Given the description of an element on the screen output the (x, y) to click on. 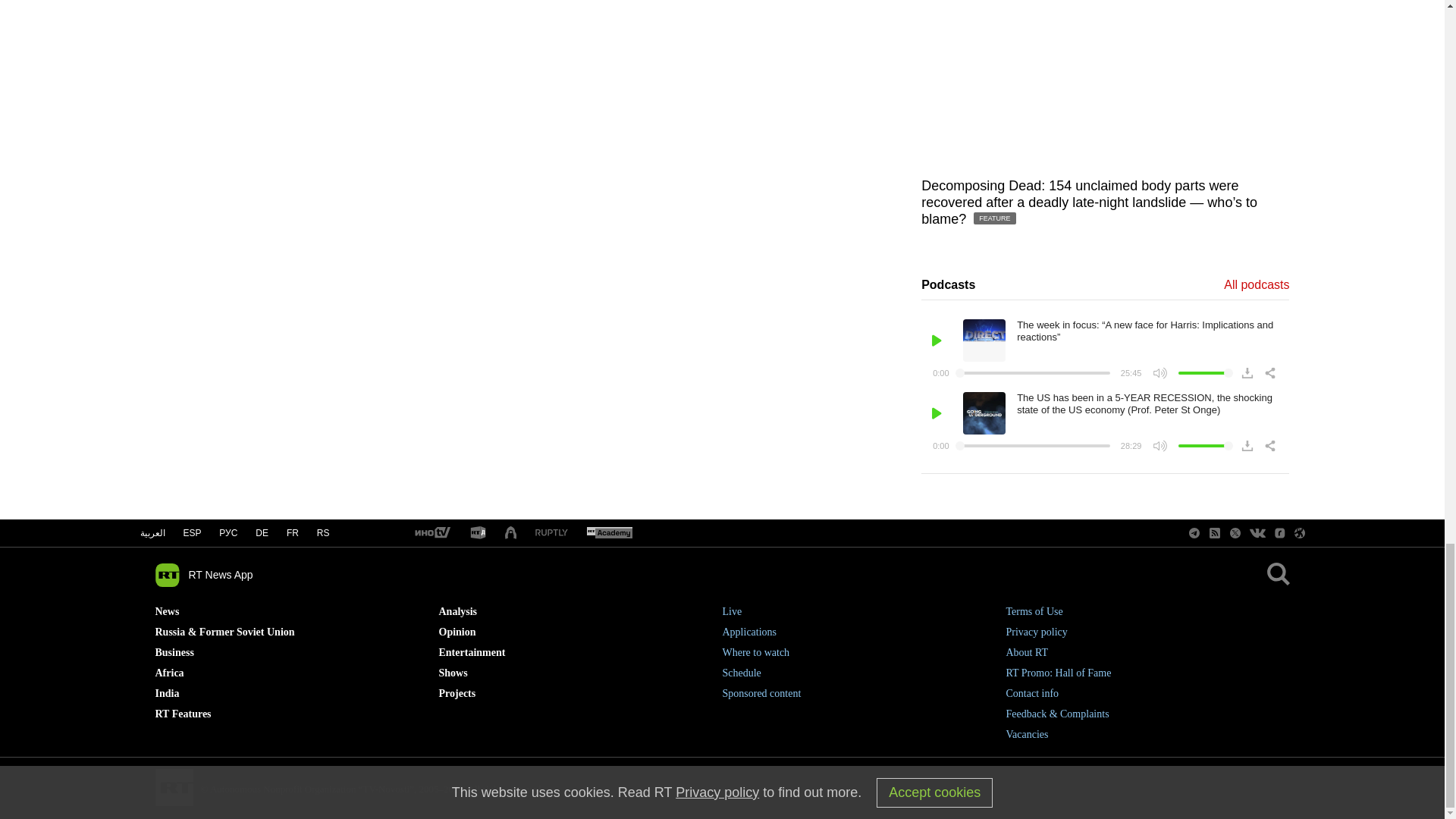
RT  (431, 533)
RT  (478, 533)
RT  (608, 533)
RT  (551, 533)
